Given the description of an element on the screen output the (x, y) to click on. 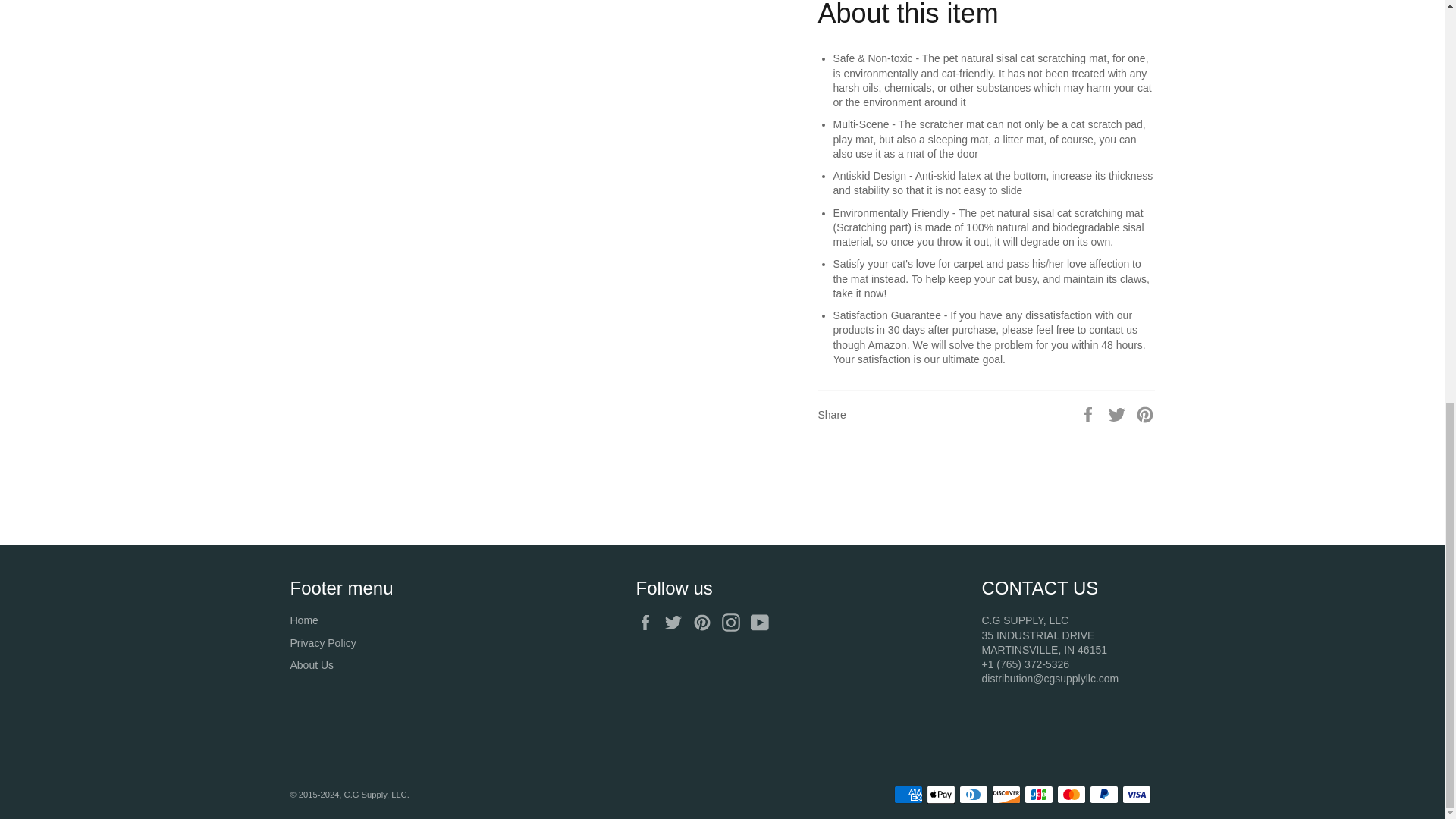
CGsupply on Pinterest (706, 622)
CGsupply on YouTube (763, 622)
CGsupply on Instagram (735, 622)
Pin on Pinterest (1144, 413)
Share on Facebook (1089, 413)
CGsupply on Facebook (647, 622)
CGsupply on Twitter (676, 622)
Tweet on Twitter (1118, 413)
